Given the description of an element on the screen output the (x, y) to click on. 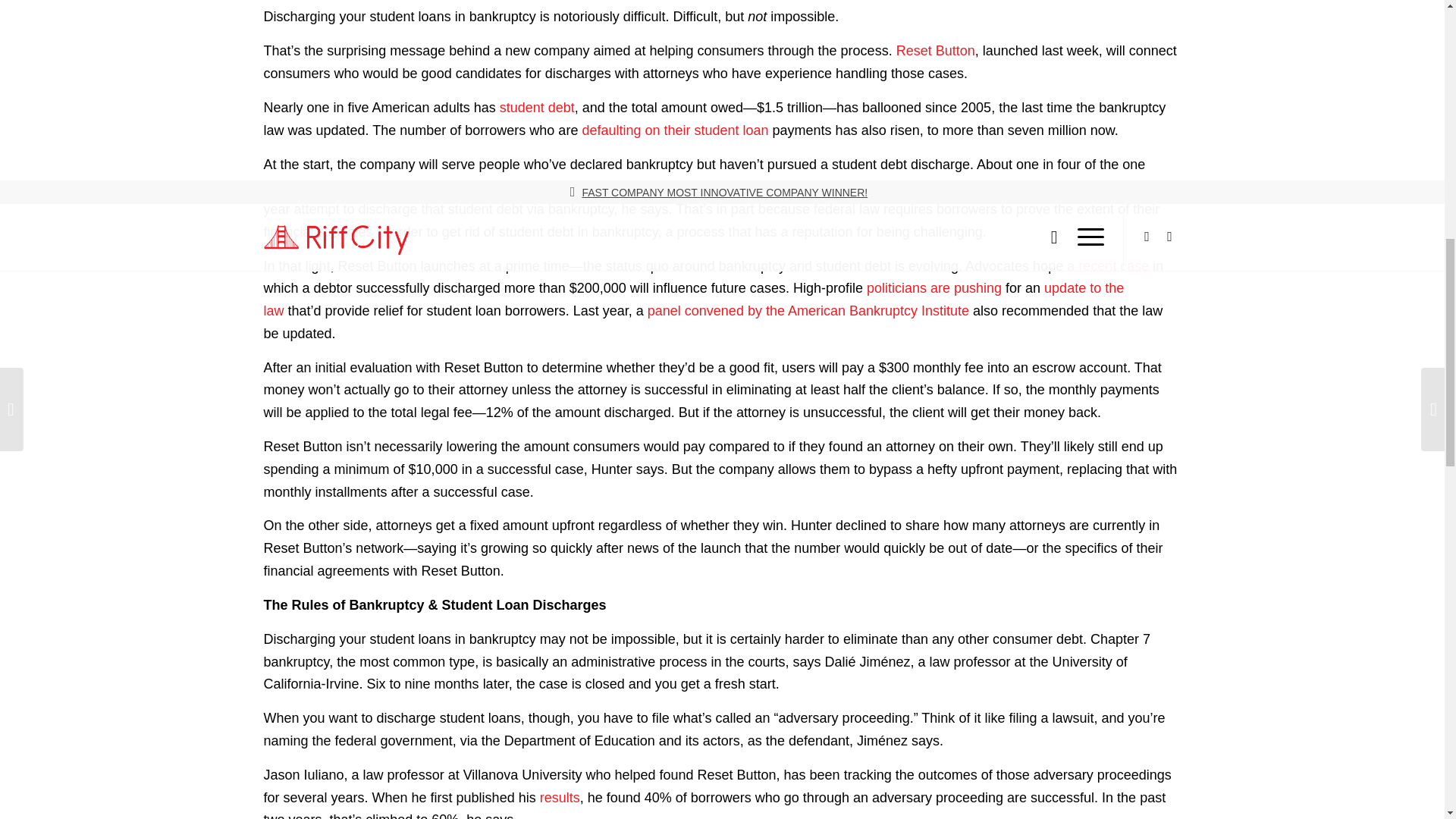
student debt (537, 107)
update to the law (693, 299)
politicians are pushing (933, 287)
defaulting on their student loan (674, 130)
panel convened by the American Bankruptcy Institute (808, 310)
a recent case (1107, 265)
Reset Button (935, 50)
results (559, 797)
